Given the description of an element on the screen output the (x, y) to click on. 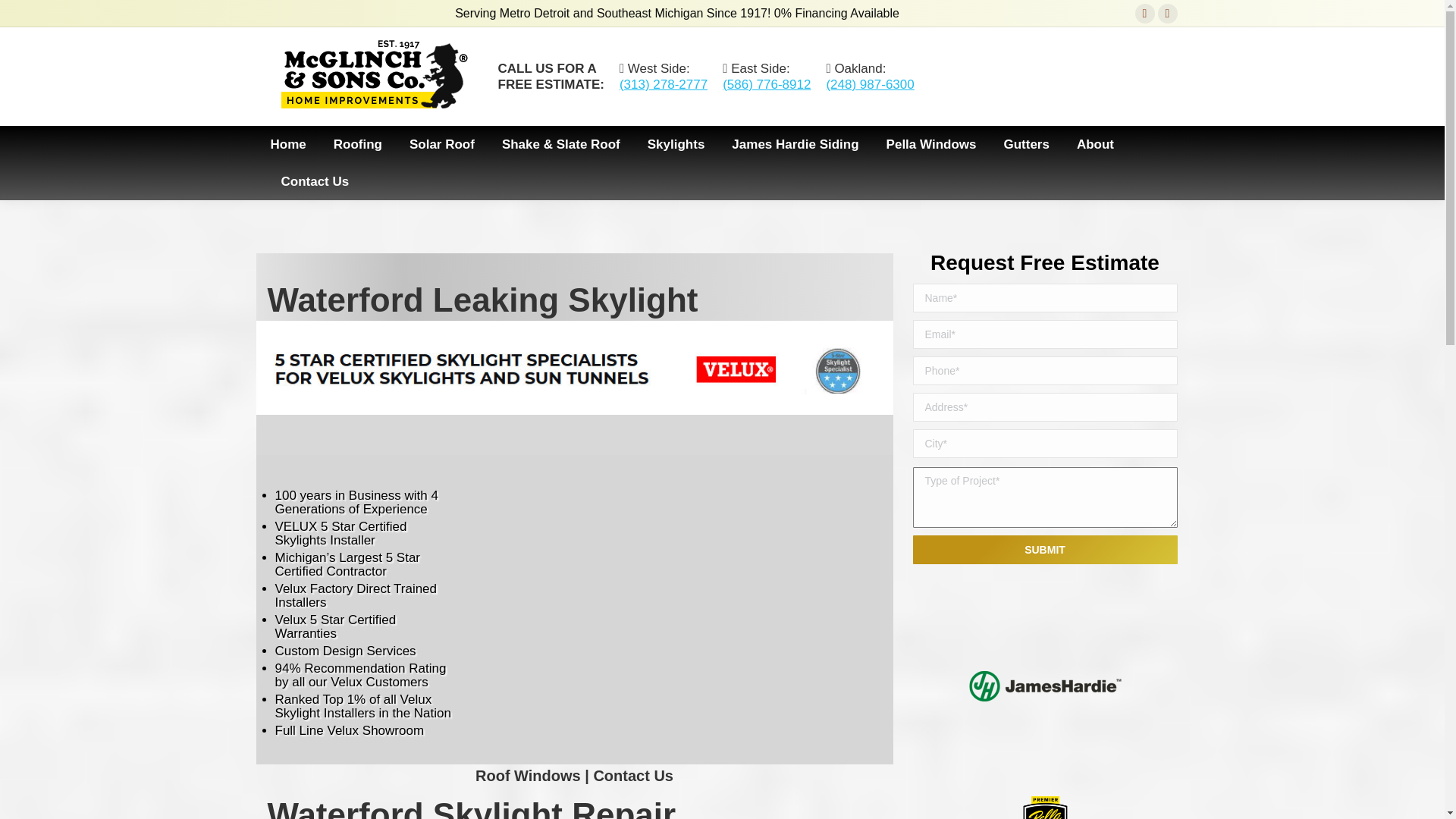
Roofing (357, 144)
About (1095, 144)
James Hardie Siding (795, 144)
Solar Roof (441, 144)
Twitter page opens in new window (1167, 13)
Facebook page opens in new window (1144, 13)
Home (287, 144)
Gutters (1025, 144)
Twitter page opens in new window (1167, 13)
Facebook page opens in new window (1144, 13)
Pella Windows (931, 144)
SUBMIT (1044, 549)
Contact Us (315, 181)
Skylights (676, 144)
